Given the description of an element on the screen output the (x, y) to click on. 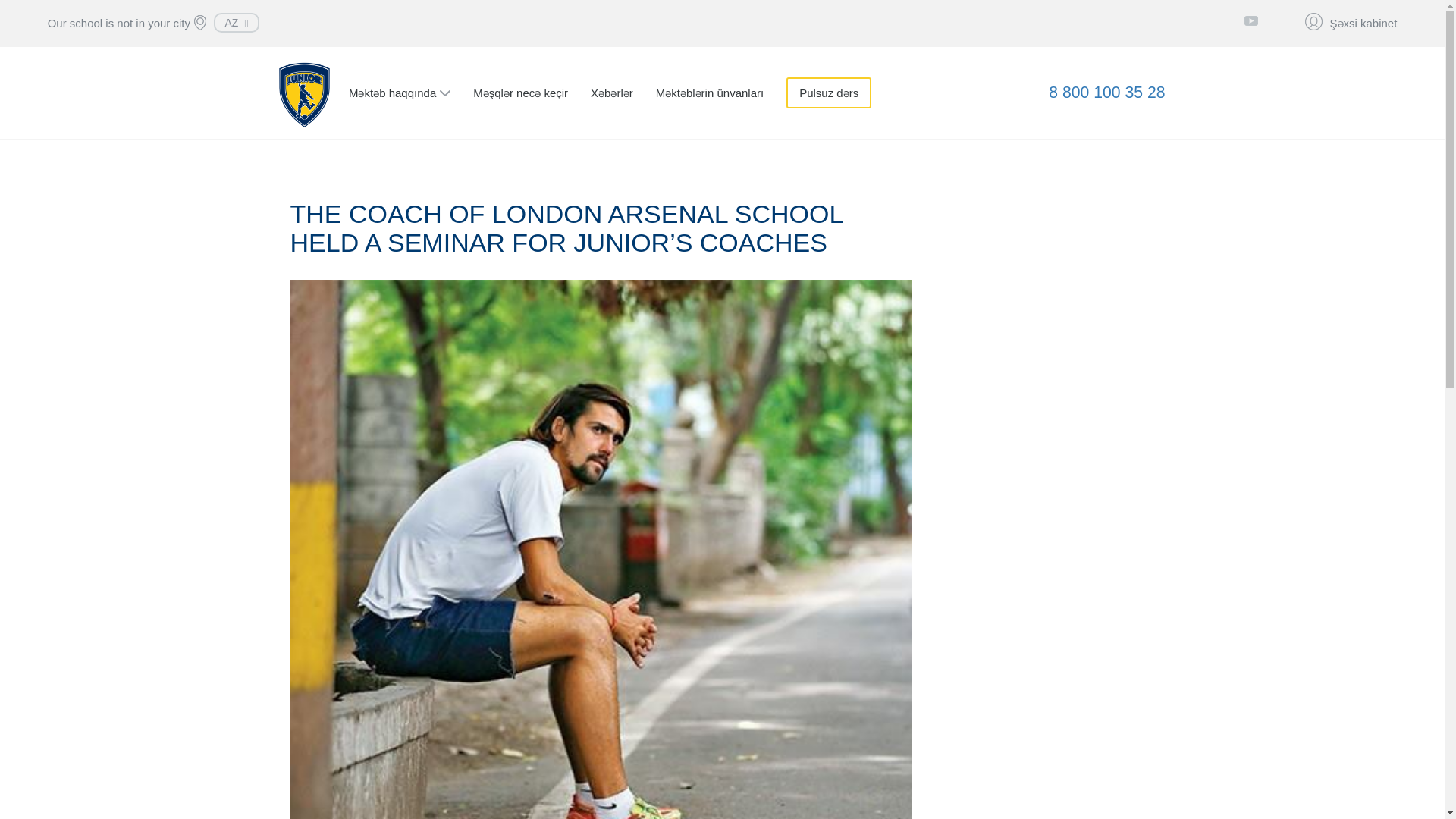
Our school is not in your city (119, 22)
AZ (236, 22)
8 800 100 35 28 (1106, 91)
